Given the description of an element on the screen output the (x, y) to click on. 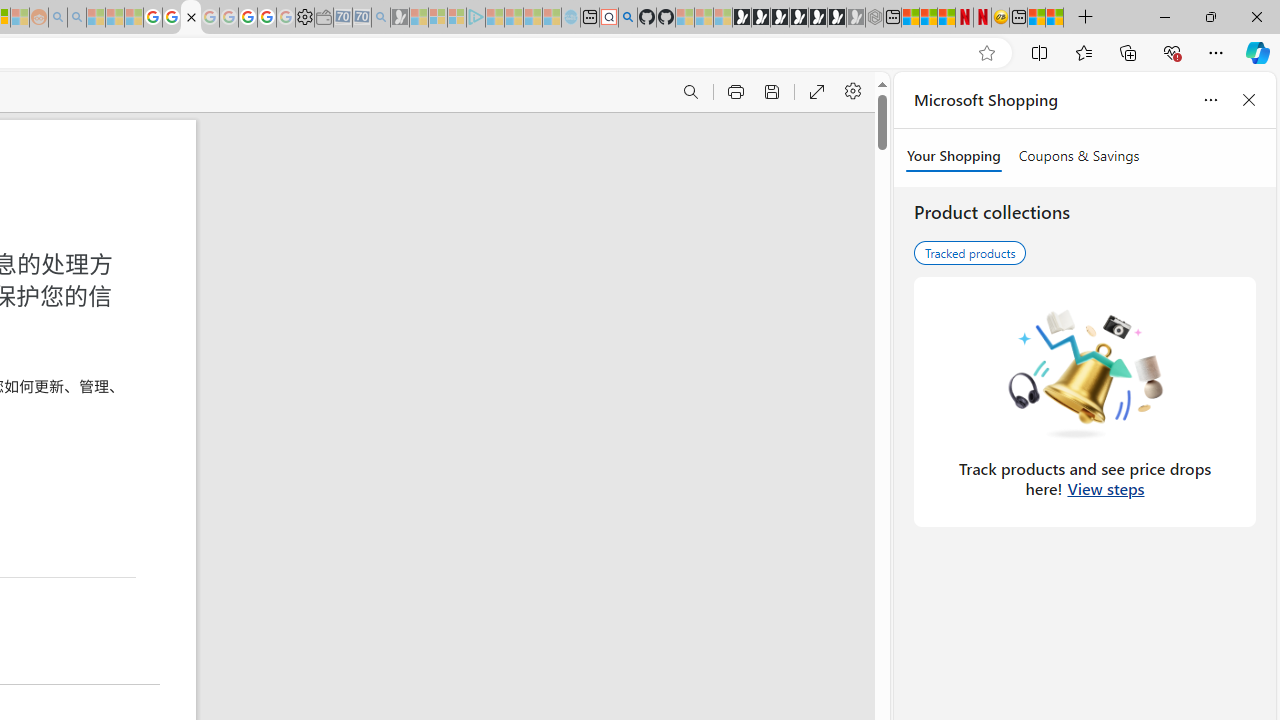
Settings and more (852, 92)
Home | Sky Blue Bikes - Sky Blue Bikes - Sleeping (570, 17)
Utah sues federal government - Search - Sleeping (76, 17)
